Given the description of an element on the screen output the (x, y) to click on. 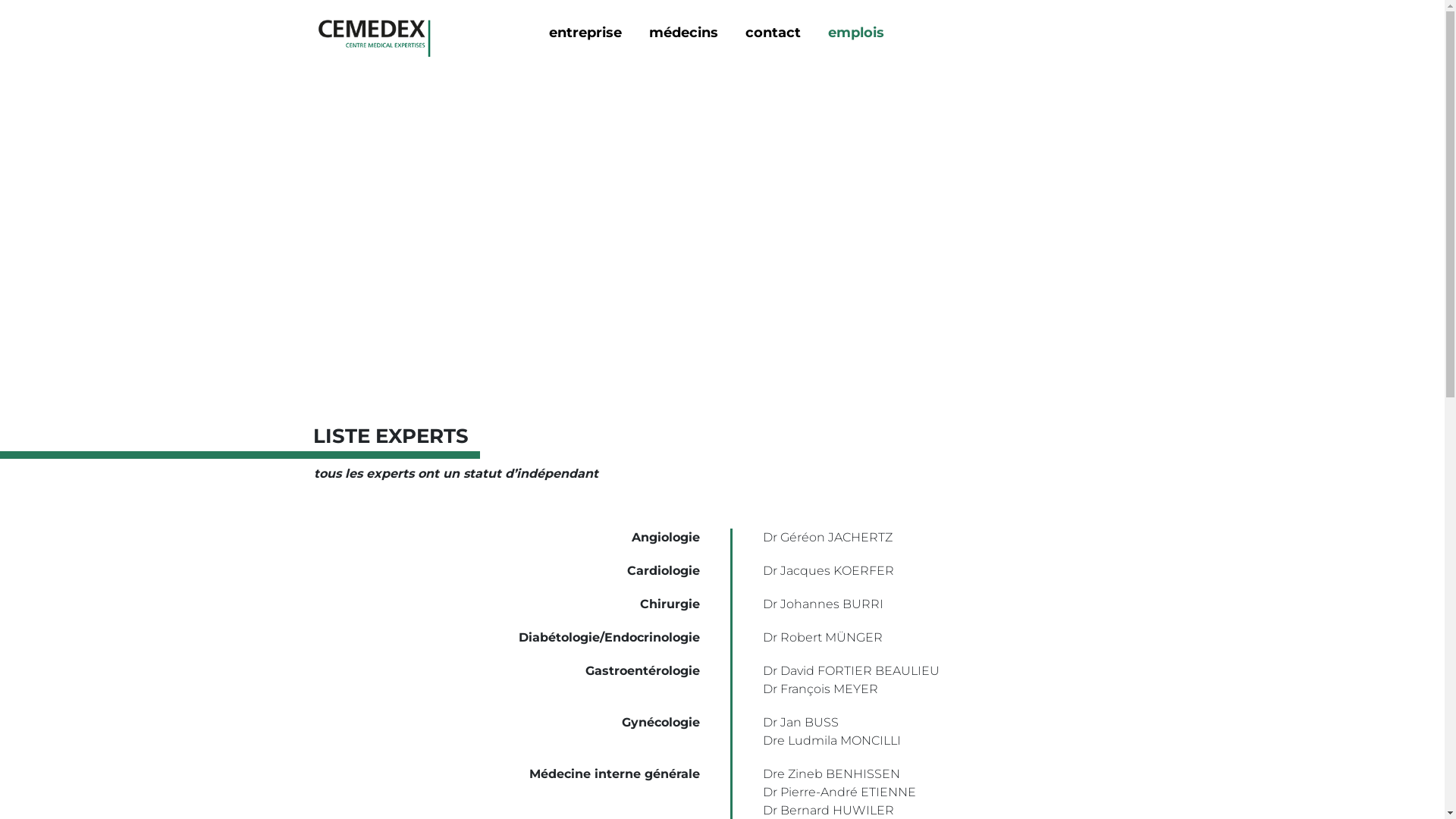
entreprise Element type: text (584, 33)
emplois Element type: text (855, 33)
contact Element type: text (772, 33)
